Given the description of an element on the screen output the (x, y) to click on. 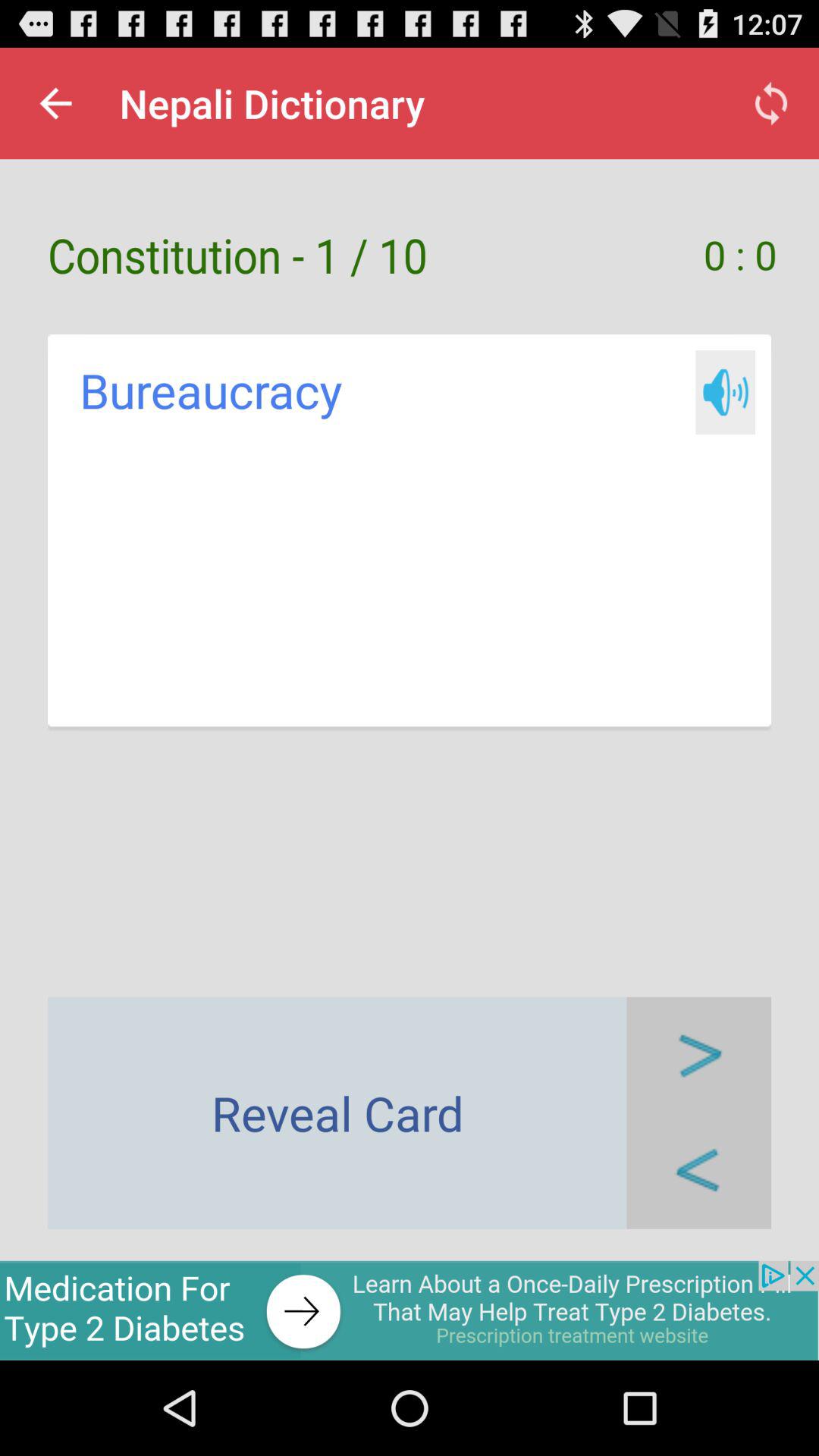
play audio pronunciation (725, 392)
